Given the description of an element on the screen output the (x, y) to click on. 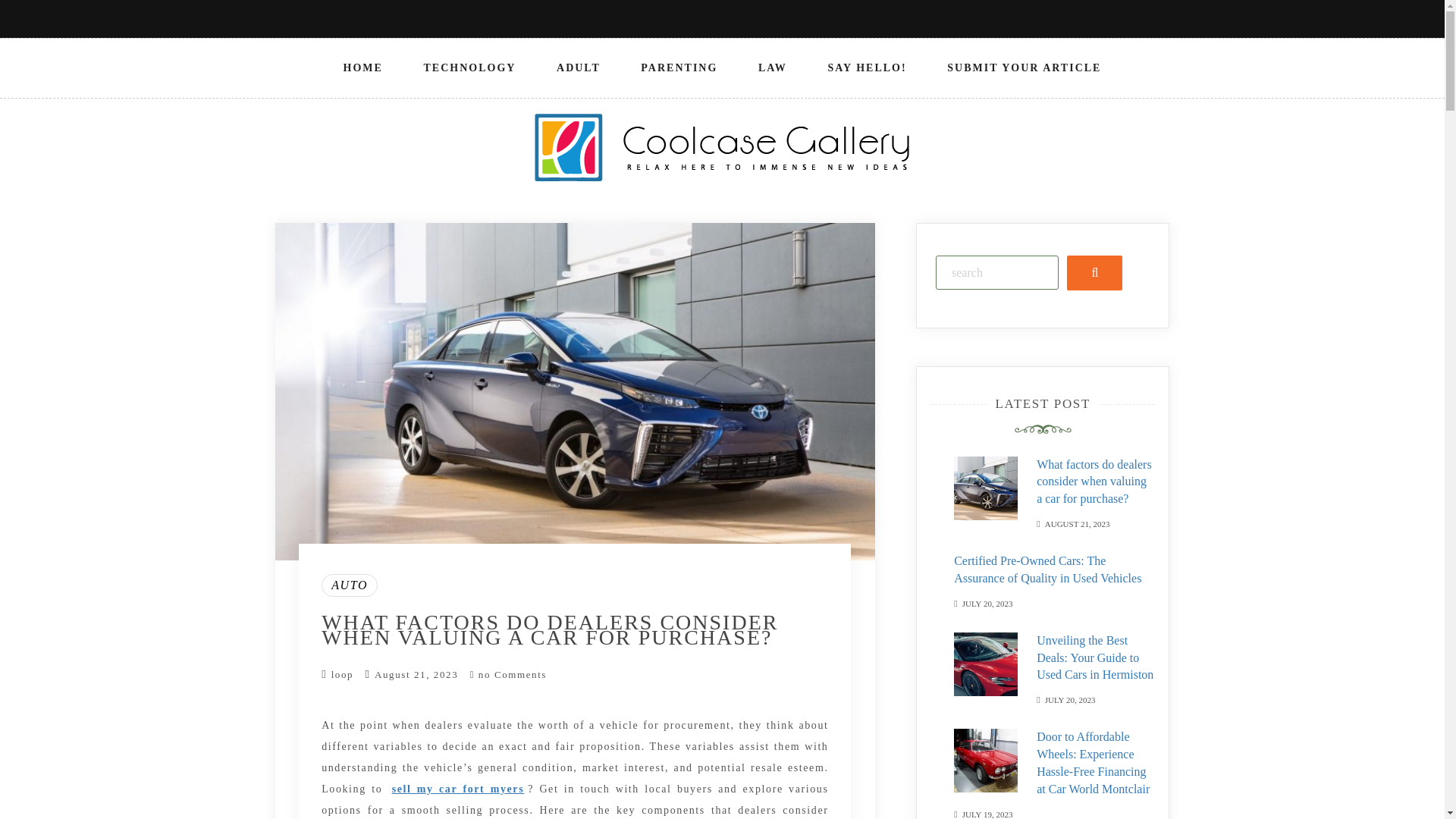
no Comments (508, 674)
PARENTING (679, 67)
loop (342, 674)
HOME (362, 67)
AUGUST 21, 2023 (1077, 522)
SAY HELLO! (866, 67)
AUTO (349, 585)
LAW (772, 67)
JULY 20, 2023 (1070, 698)
Search (1094, 272)
